Given the description of an element on the screen output the (x, y) to click on. 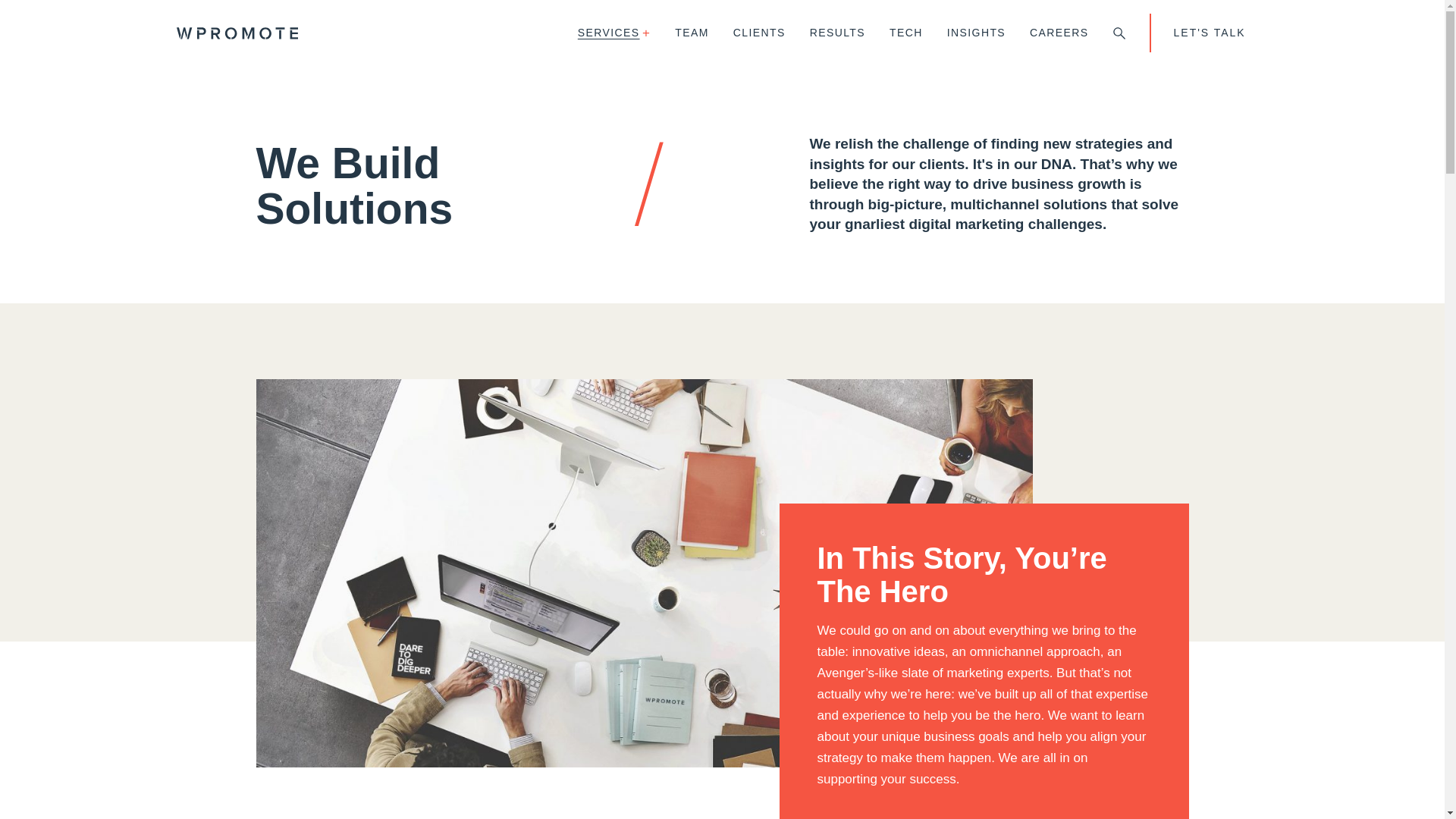
SERVICES (614, 33)
LET'S TALK (1209, 32)
CLIENTS (758, 33)
TECH (905, 33)
CAREERS (1058, 33)
TEAM (691, 33)
INSIGHTS (975, 33)
RESULTS (837, 33)
